Given the description of an element on the screen output the (x, y) to click on. 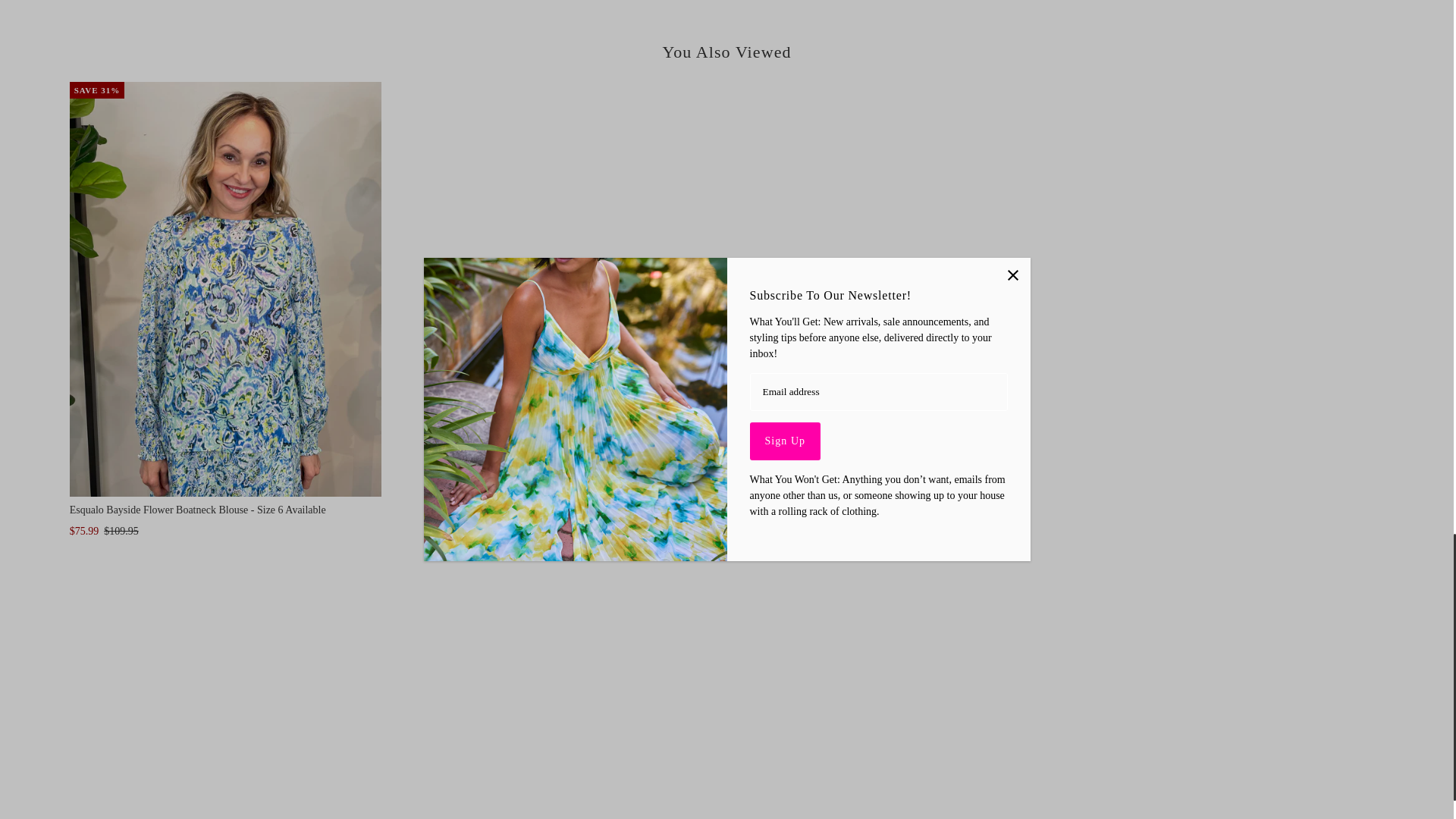
Esqualo Bayside Flower Boatneck Blouse - Size 6 Available (225, 289)
